Given the description of an element on the screen output the (x, y) to click on. 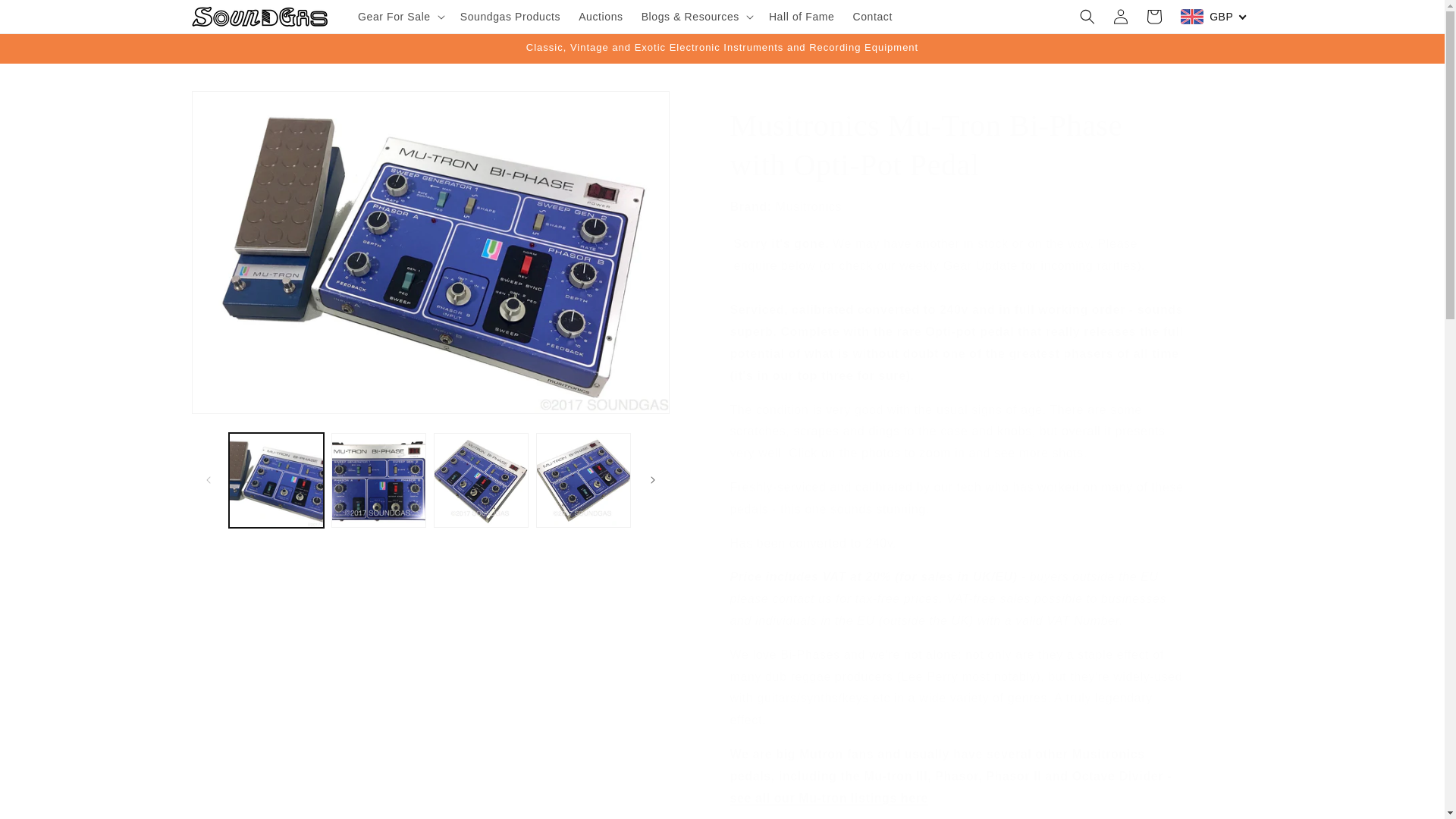
Skip to content (45, 17)
Mu-trons at Soundgas (828, 797)
